Given the description of an element on the screen output the (x, y) to click on. 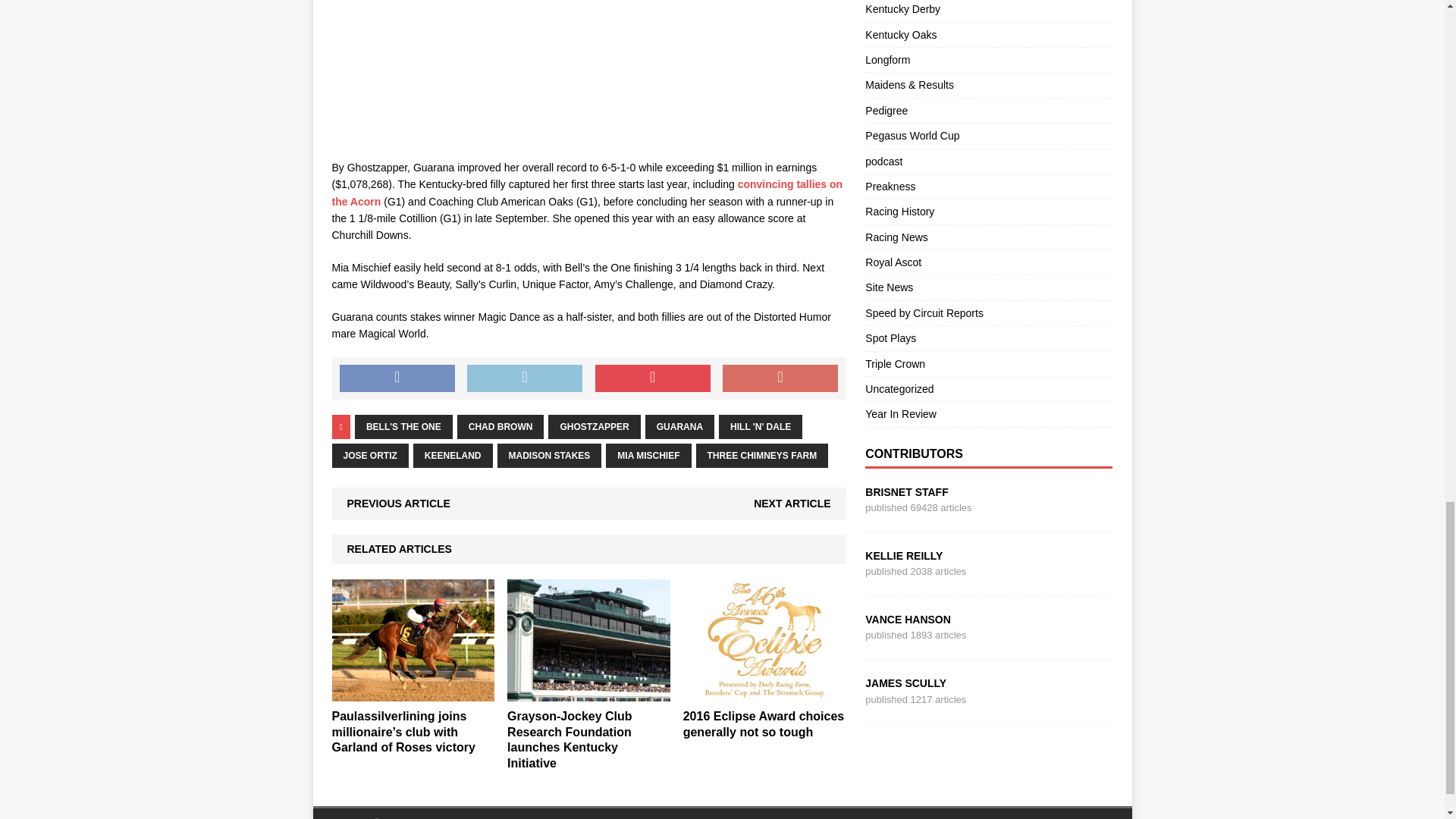
2016 Eclipse Award choices generally not so tough (763, 692)
Pin This Post (652, 378)
Tweet This Post (524, 378)
2016 Eclipse Award choices generally not so tough (763, 724)
Share on Facebook (396, 378)
